Given the description of an element on the screen output the (x, y) to click on. 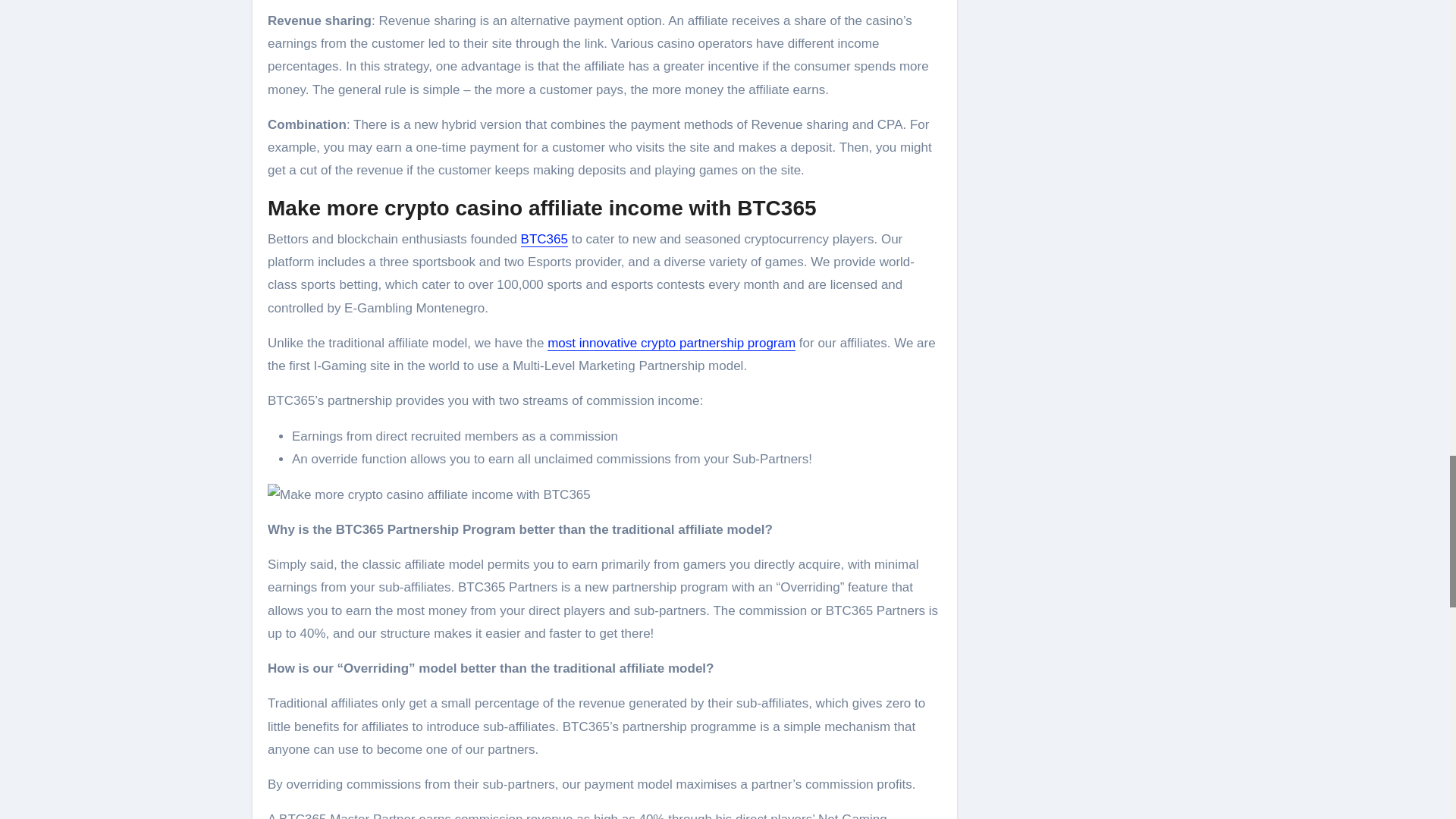
most innovative crypto partnership program (670, 342)
BTC365 (544, 238)
